Given the description of an element on the screen output the (x, y) to click on. 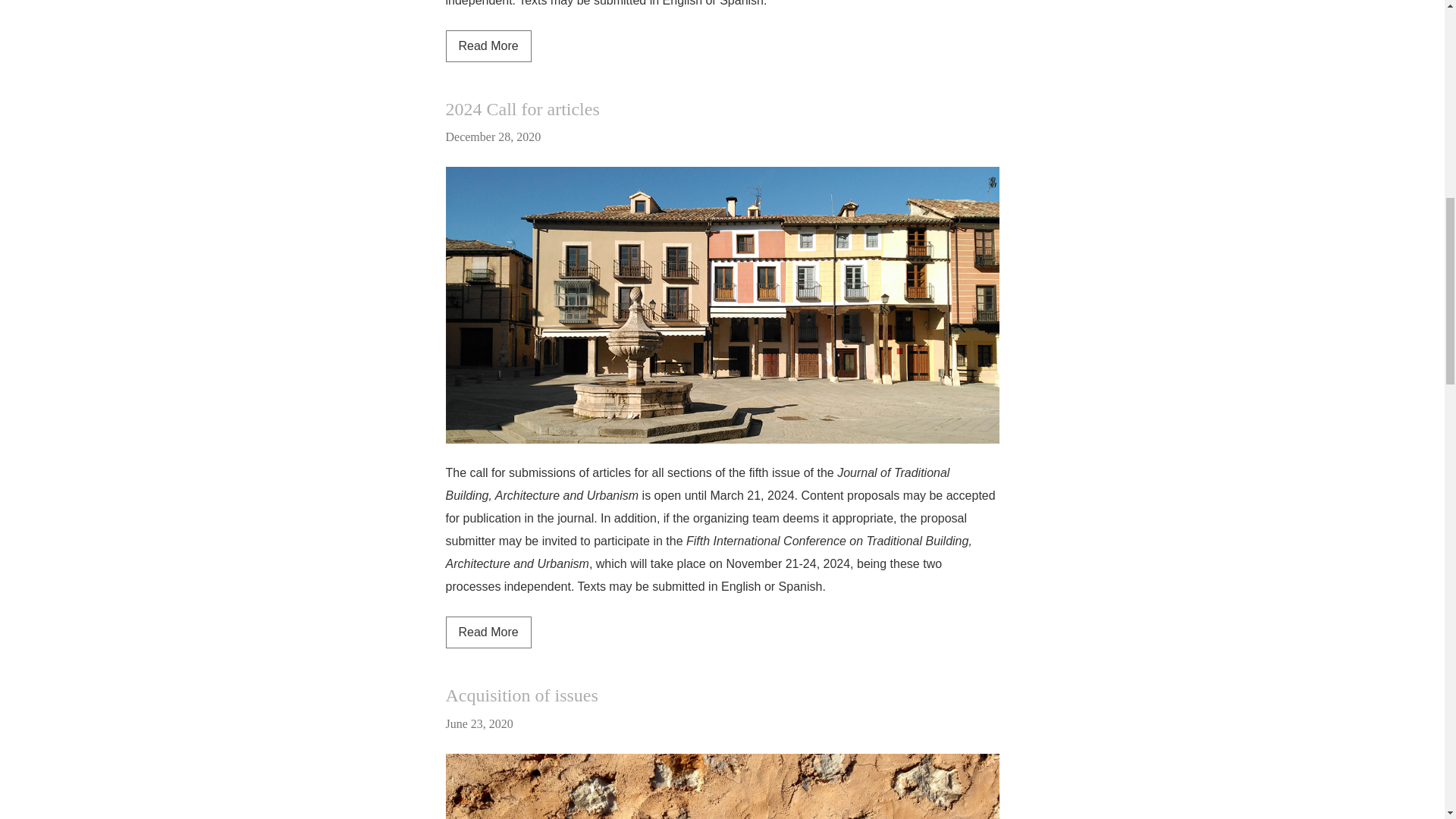
2024 Call for articles (488, 632)
Acquisition of issues (522, 108)
